Given the description of an element on the screen output the (x, y) to click on. 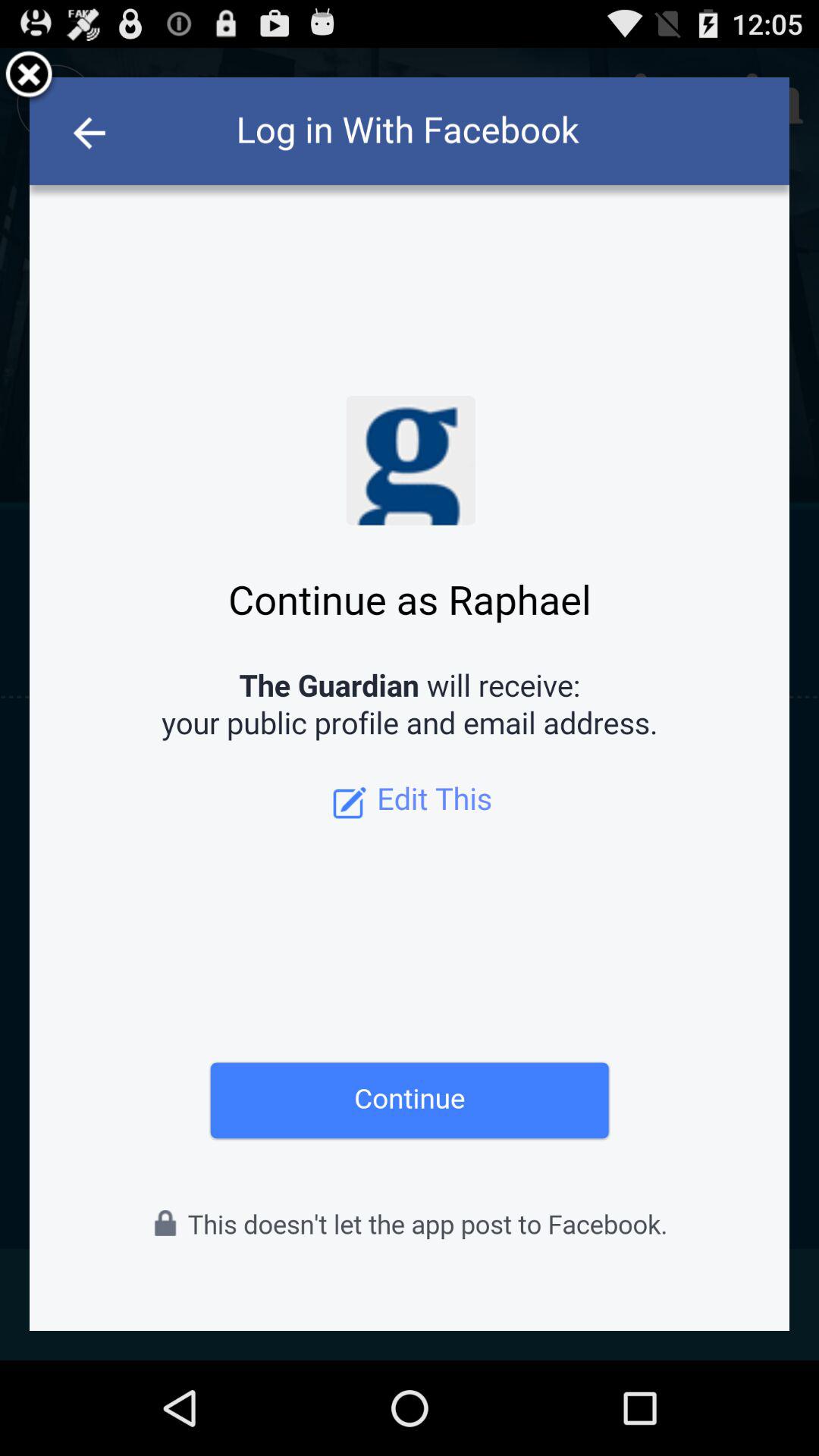
app close option (29, 76)
